Given the description of an element on the screen output the (x, y) to click on. 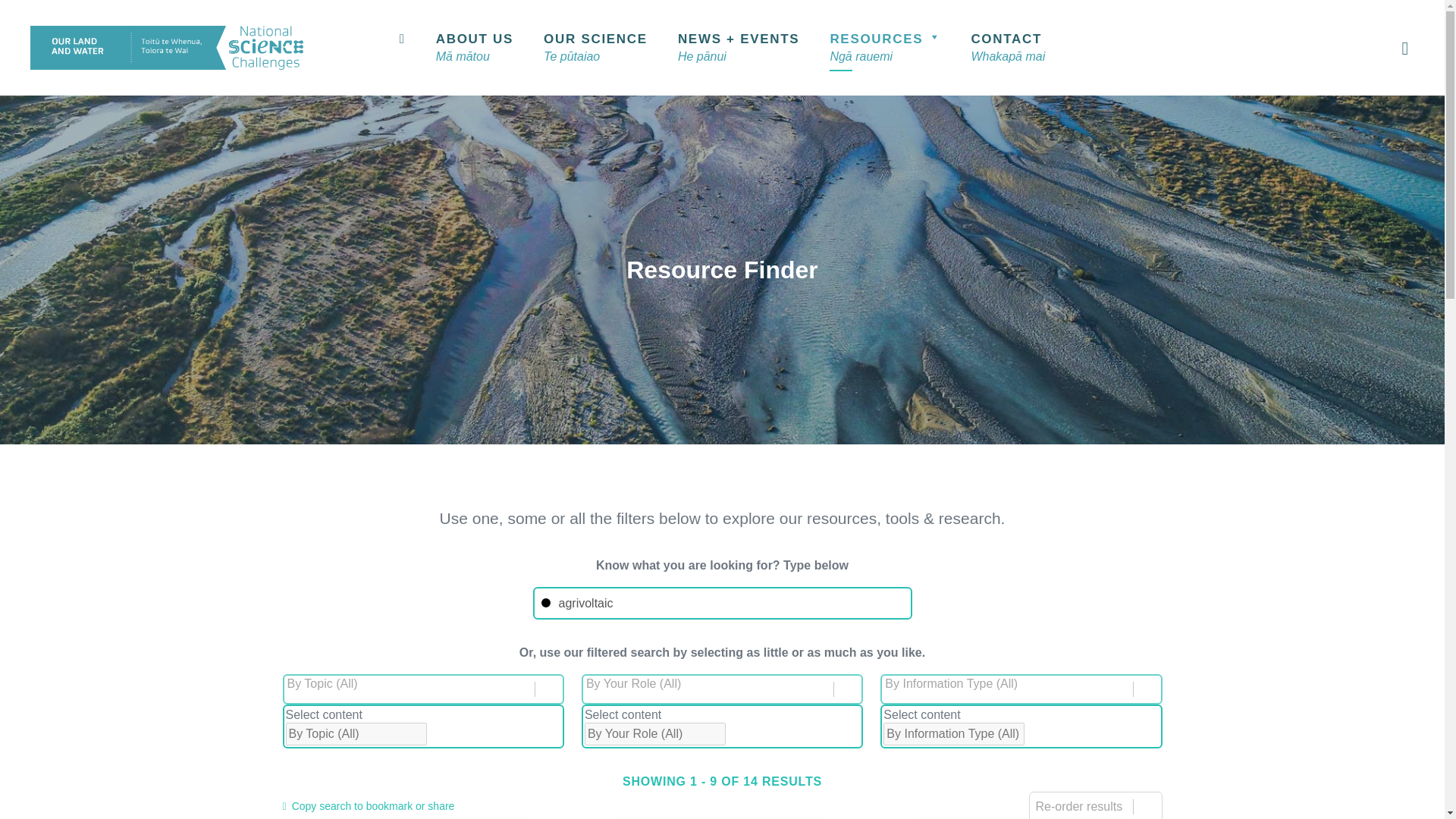
agrivoltaic (721, 603)
Our Land And Water Logo (166, 47)
agrivoltaic (721, 603)
